Given the description of an element on the screen output the (x, y) to click on. 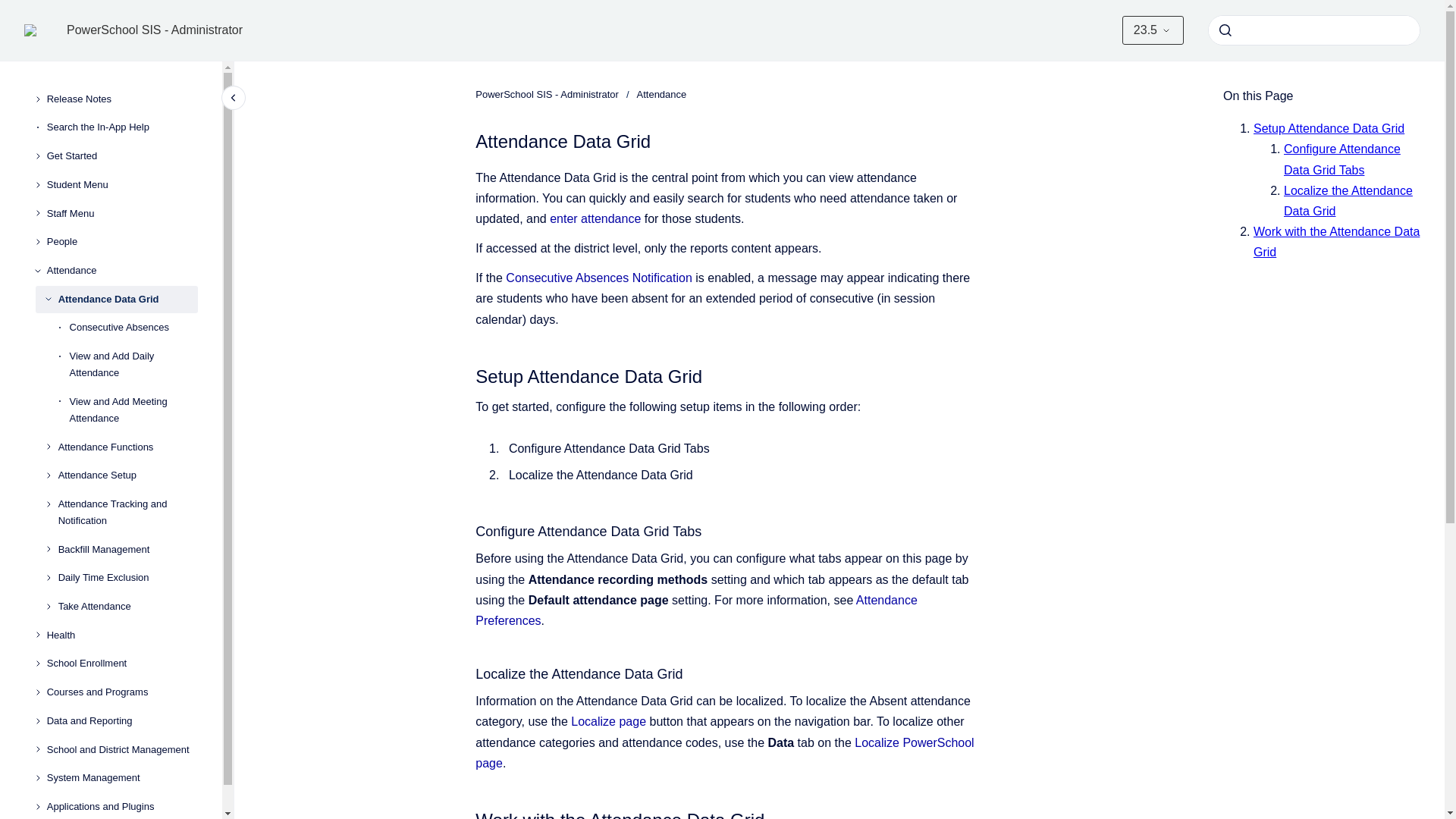
Attendance Tracking and Notification (128, 512)
Daily Time Exclusion (128, 578)
Get Started (122, 155)
23.5 (1152, 30)
School Enrollment (122, 664)
Search the In-App Help (122, 127)
Attendance (122, 270)
PowerSchool SIS - Administrator (154, 29)
Health (122, 635)
Attendance Data Grid (128, 298)
